Given the description of an element on the screen output the (x, y) to click on. 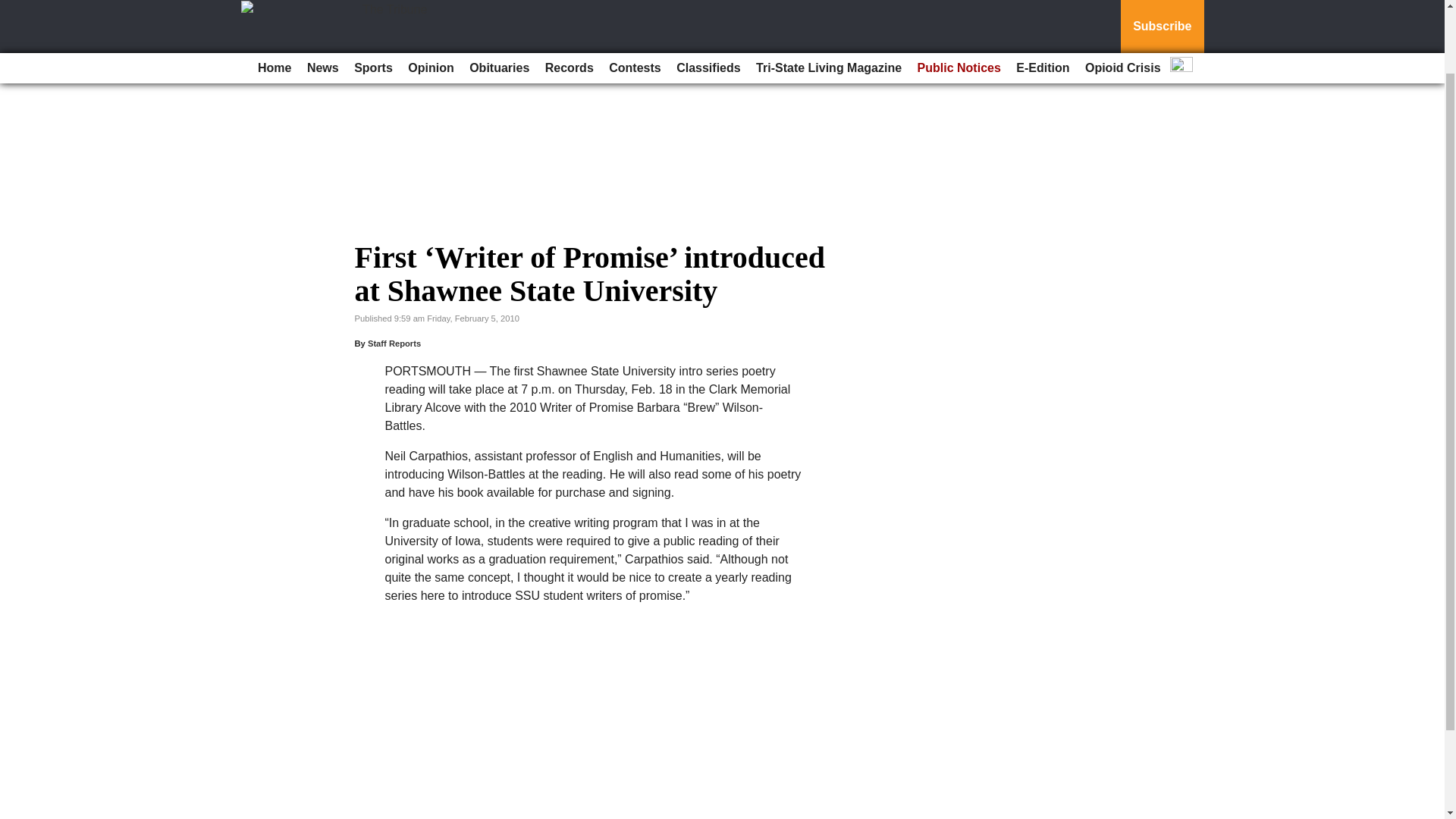
Home (274, 2)
Records (568, 2)
Public Notices (959, 2)
Staff Reports (394, 343)
Opioid Crisis (1122, 2)
News (323, 2)
Opinion (430, 2)
Sports (372, 2)
Obituaries (499, 2)
Tri-State Living Magazine (828, 2)
